Given the description of an element on the screen output the (x, y) to click on. 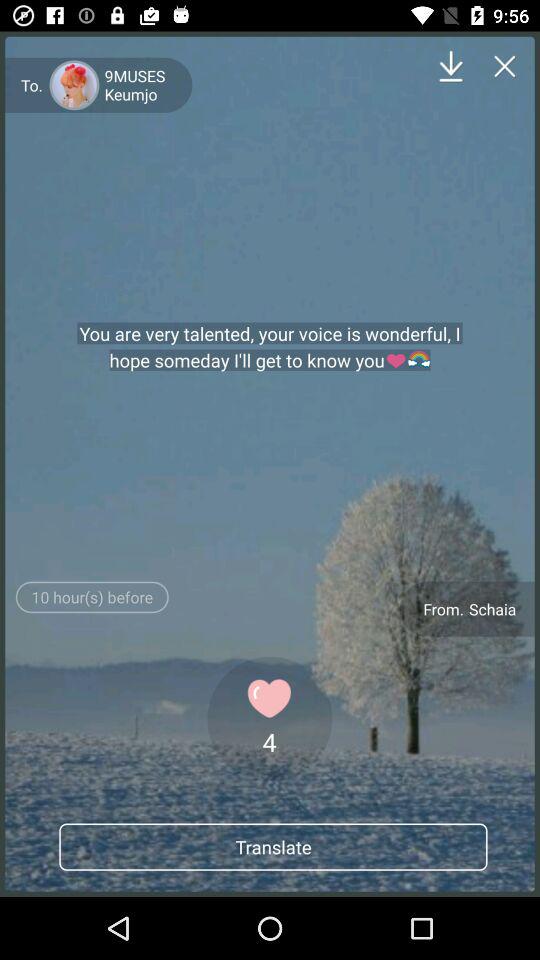
download content (450, 66)
